Given the description of an element on the screen output the (x, y) to click on. 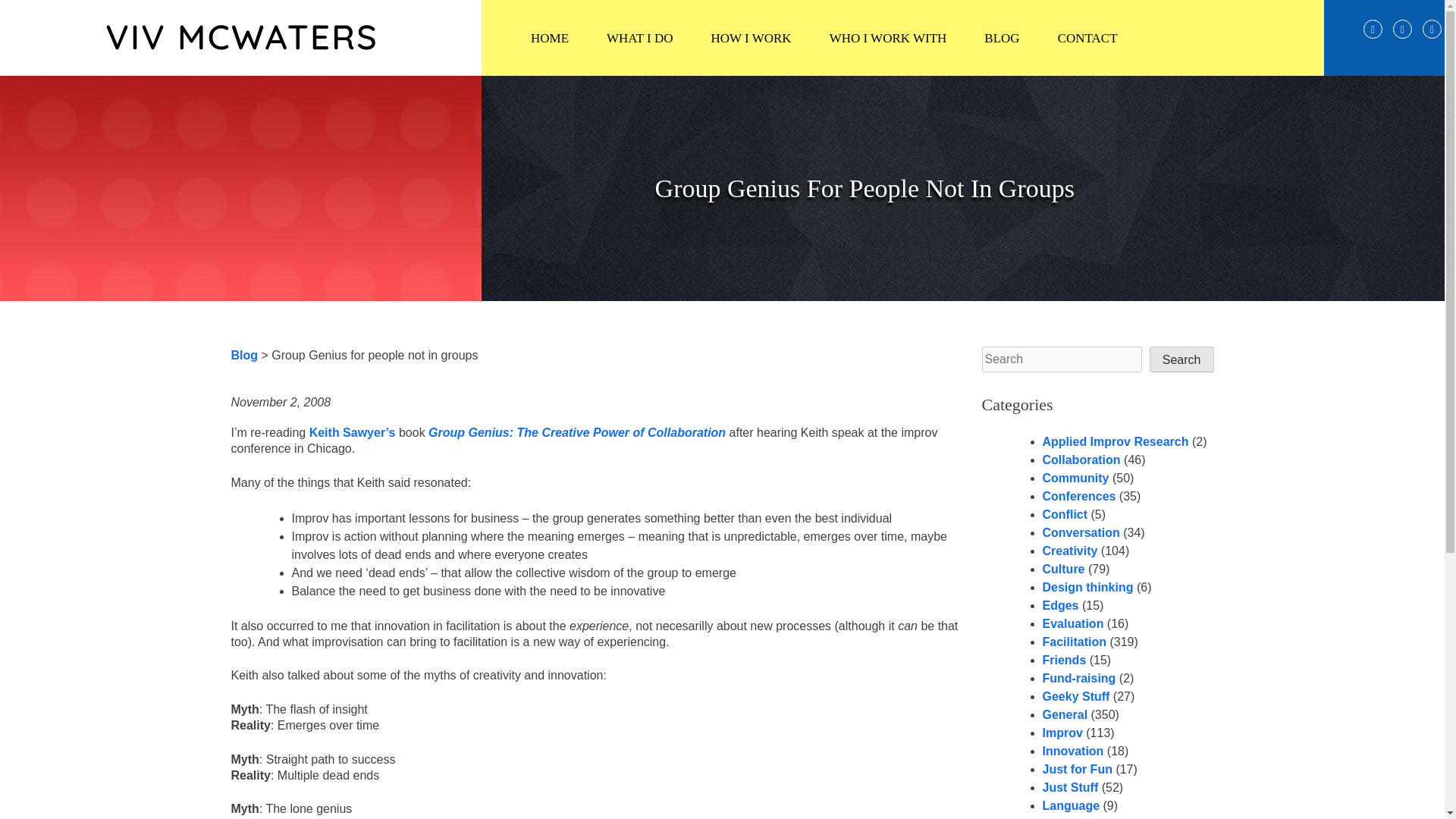
Culture (902, 38)
Conversation (1063, 568)
Fund-raising (1080, 532)
Conferences (1078, 677)
Design thinking (1078, 495)
HOME (1087, 586)
Blog (550, 37)
Group Genius: The Creative Power of Collaboration (243, 354)
Creativity (576, 431)
Friends (1069, 550)
WHAT I DO (1064, 659)
Community (639, 37)
Edges (1075, 477)
Evaluation (1060, 604)
